Given the description of an element on the screen output the (x, y) to click on. 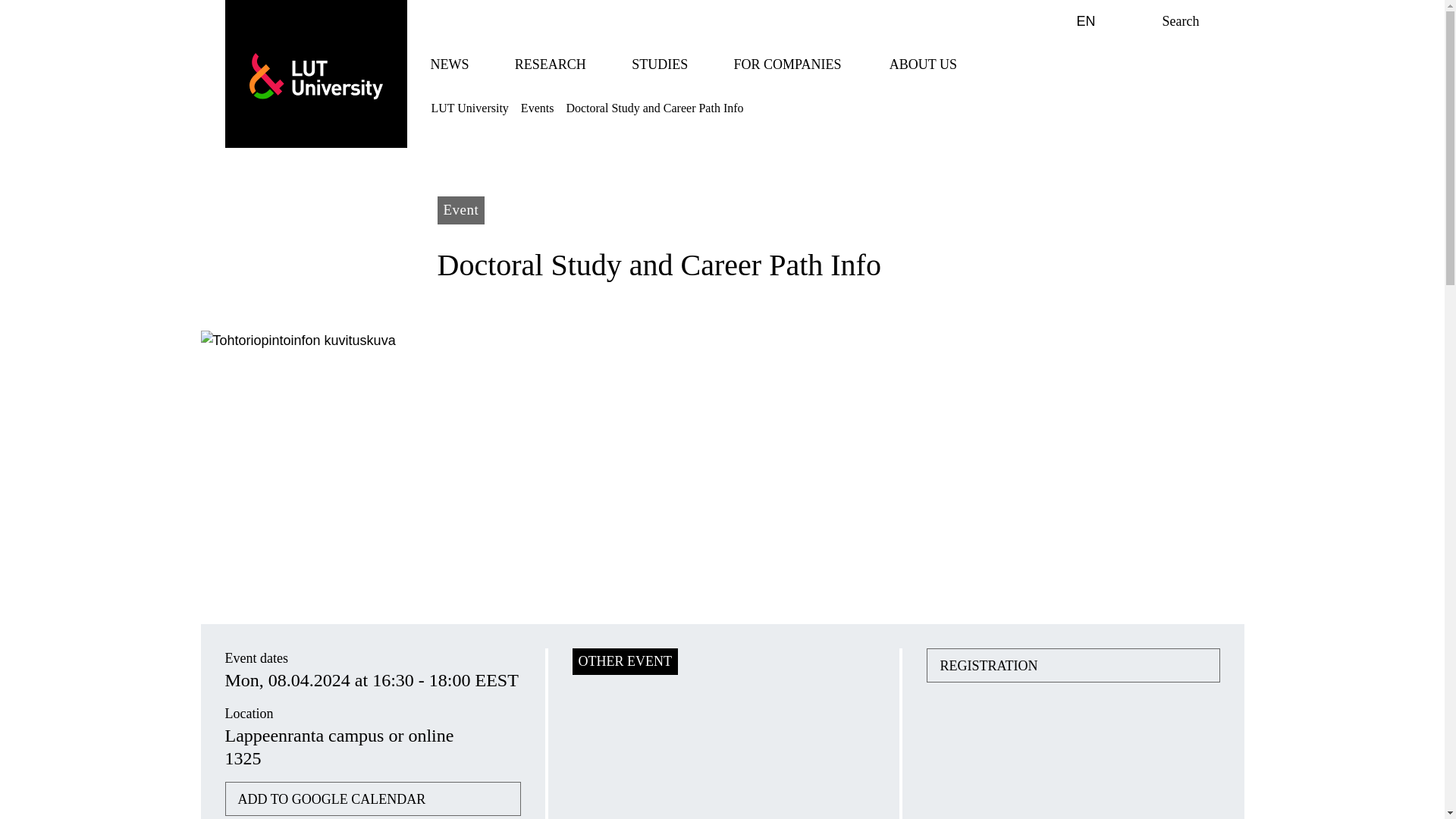
NEWS (446, 64)
Cooperation and services (783, 64)
Open next menu level (598, 65)
Get to know us (918, 64)
Home page (314, 76)
News and events (446, 64)
Open next menu level (1074, 21)
LUT University (482, 65)
Studies (314, 76)
RESEARCH (655, 64)
Research (545, 64)
Search (545, 64)
